Given the description of an element on the screen output the (x, y) to click on. 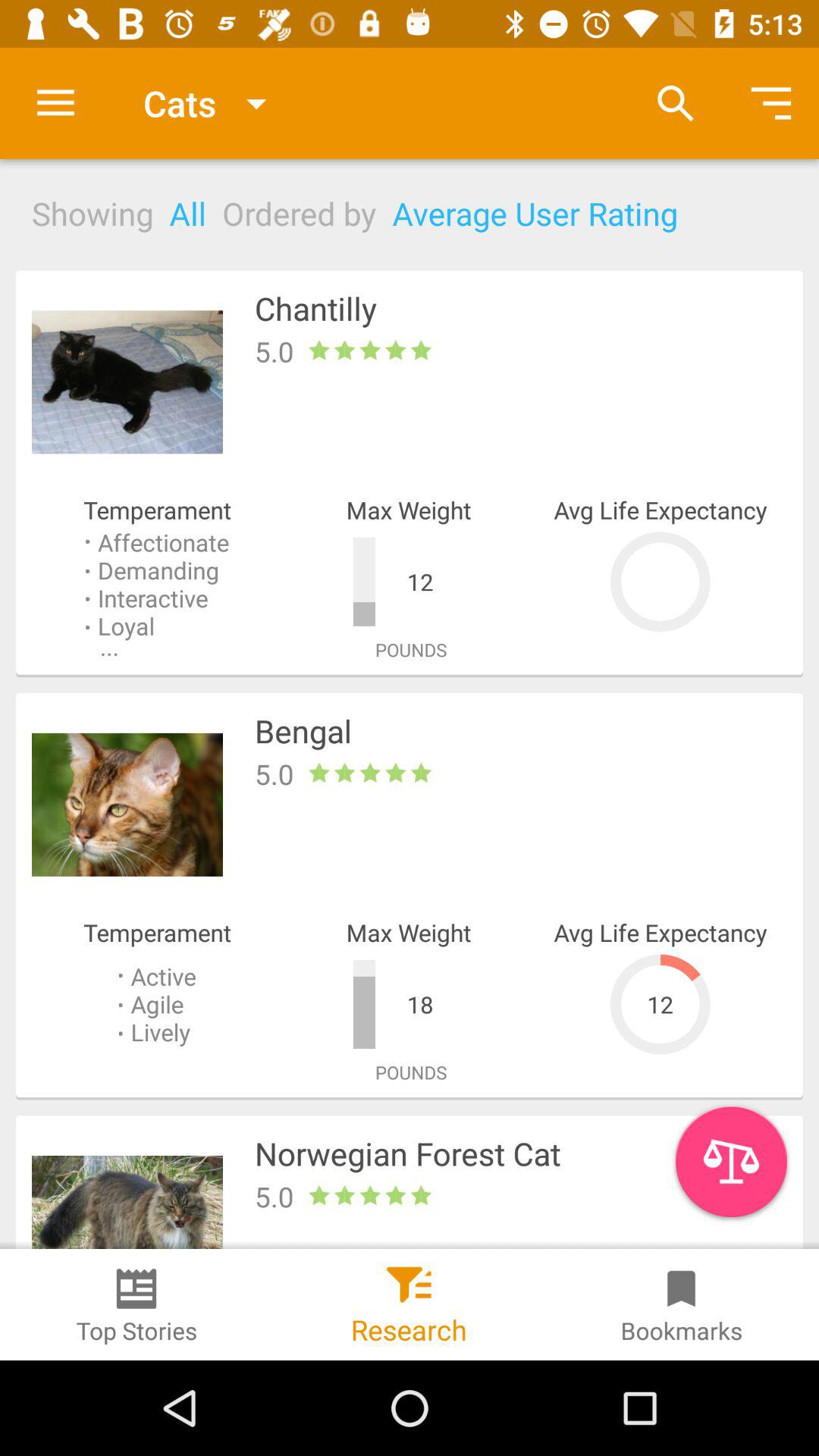
move to the image left to the chantilly (126, 381)
click on the pink colour icon above bookmarks (731, 1161)
click the icon next to the search icon (771, 103)
select the second image above the temperament text (126, 804)
click on the icon which is left to book marks (408, 1278)
